Given the description of an element on the screen output the (x, y) to click on. 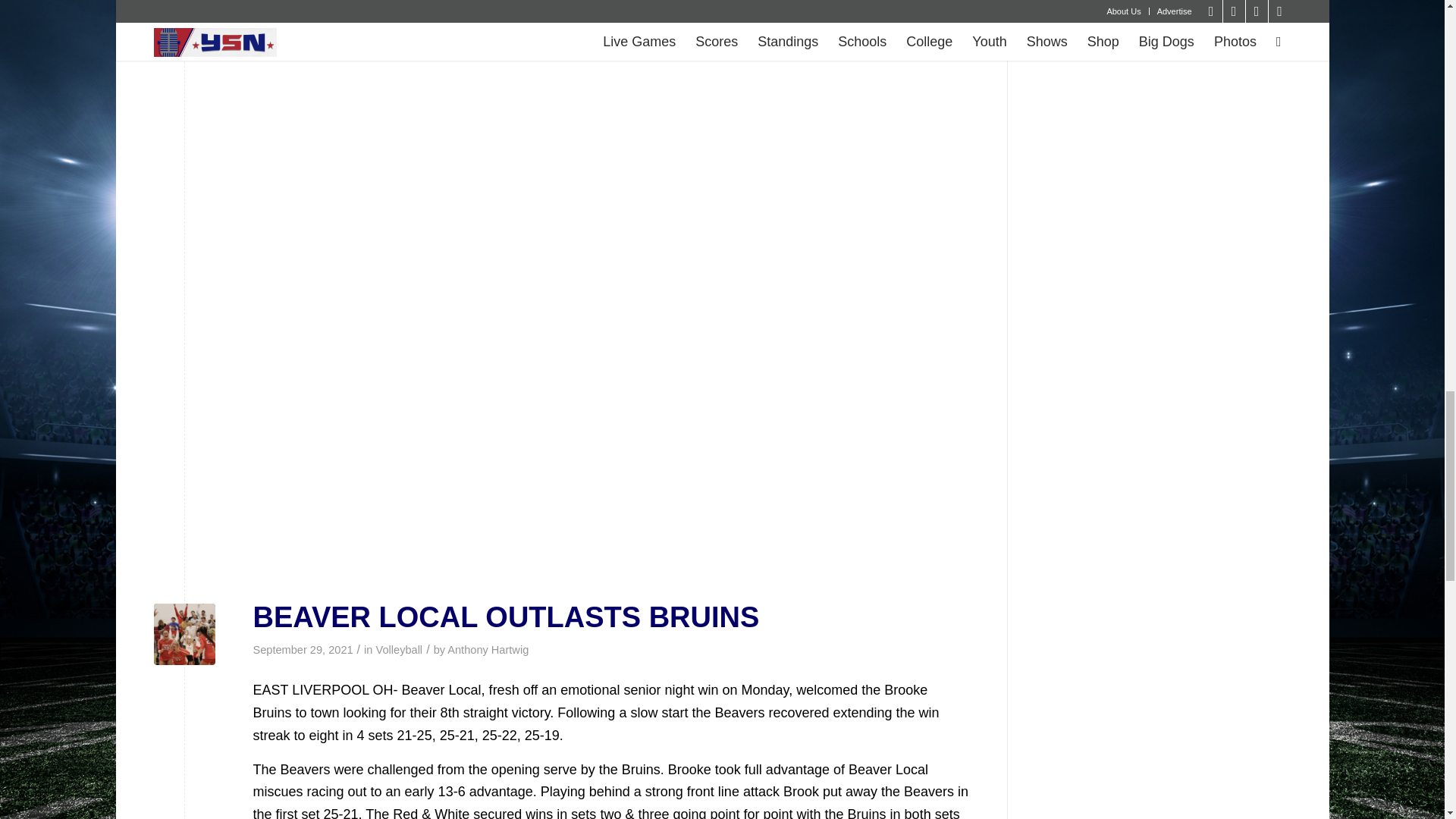
7BD727E1-CD46-41ED-909B-C557CD33741A (183, 634)
